Given the description of an element on the screen output the (x, y) to click on. 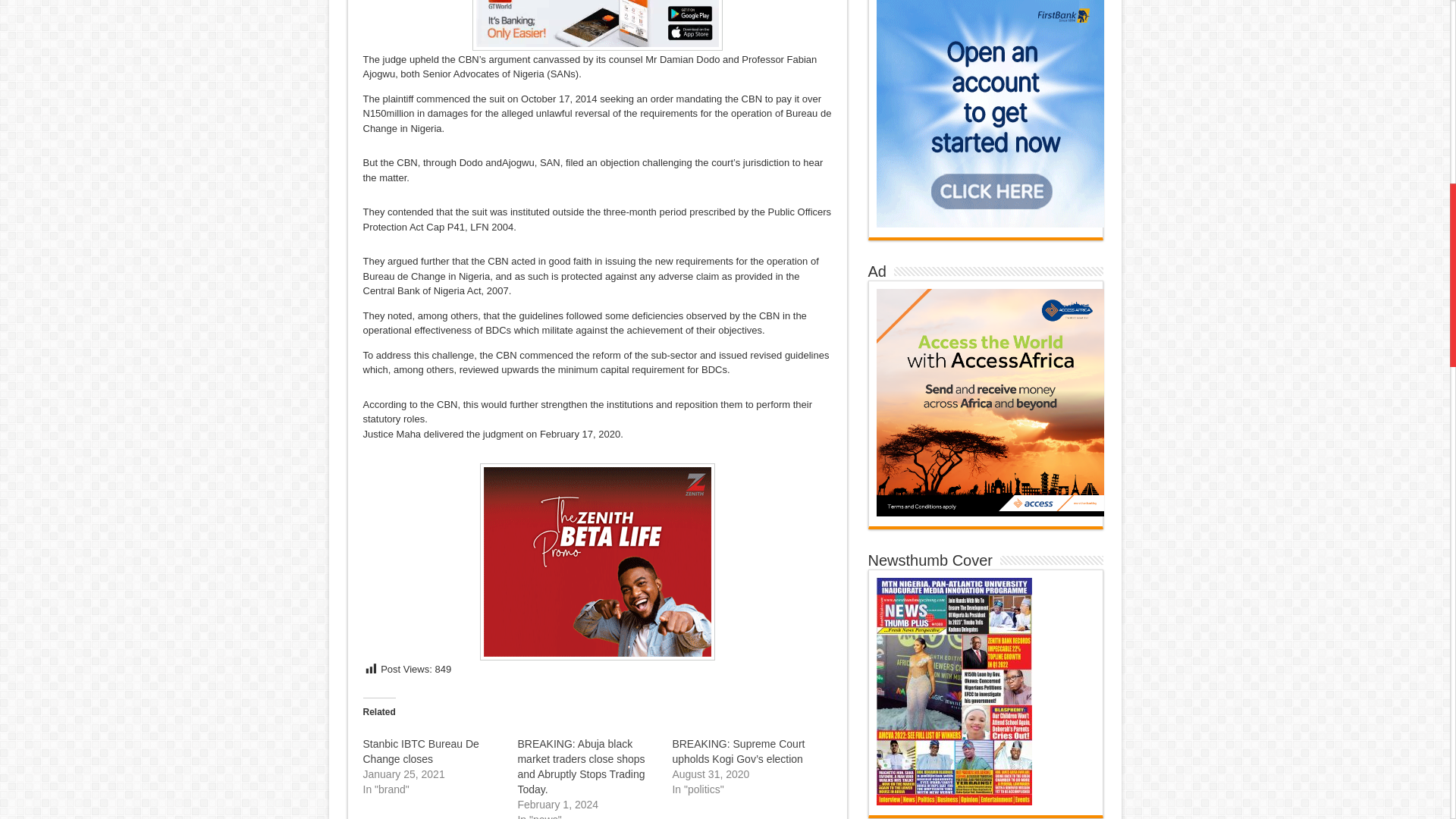
Stanbic IBTC Bureau De Change closes (420, 750)
Stanbic IBTC Bureau De Change closes (420, 750)
